Given the description of an element on the screen output the (x, y) to click on. 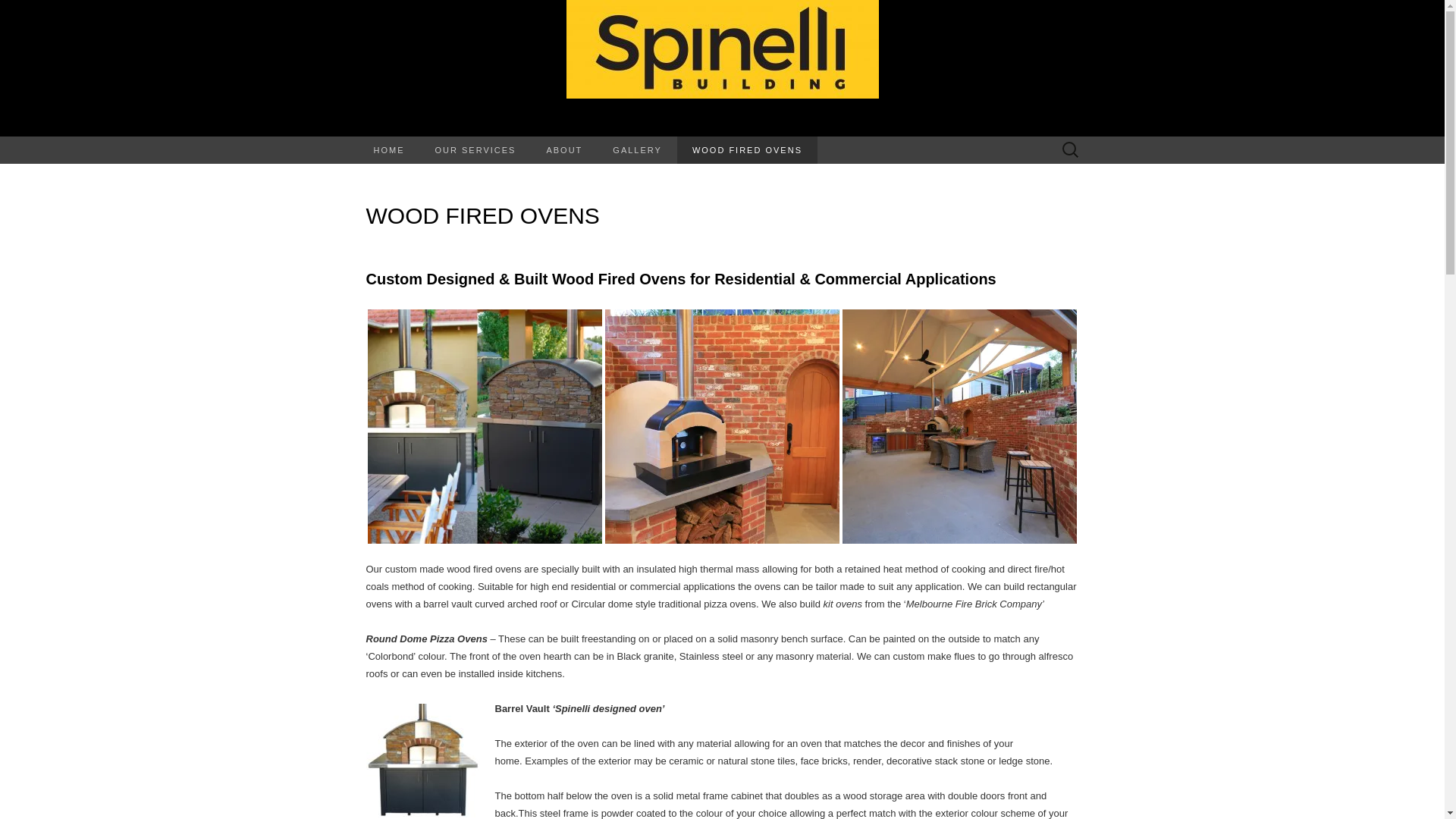
Spinelli Building (722, 68)
Dome Pizza Oven (722, 426)
ABOUT (563, 149)
Finished Spinelli Oven (483, 426)
GALLERY (636, 149)
WOOD FIRED OVENS (746, 149)
Search (16, 12)
Recycled Brick Walls (958, 426)
OUR SERVICES (475, 149)
HOME (388, 149)
